Given the description of an element on the screen output the (x, y) to click on. 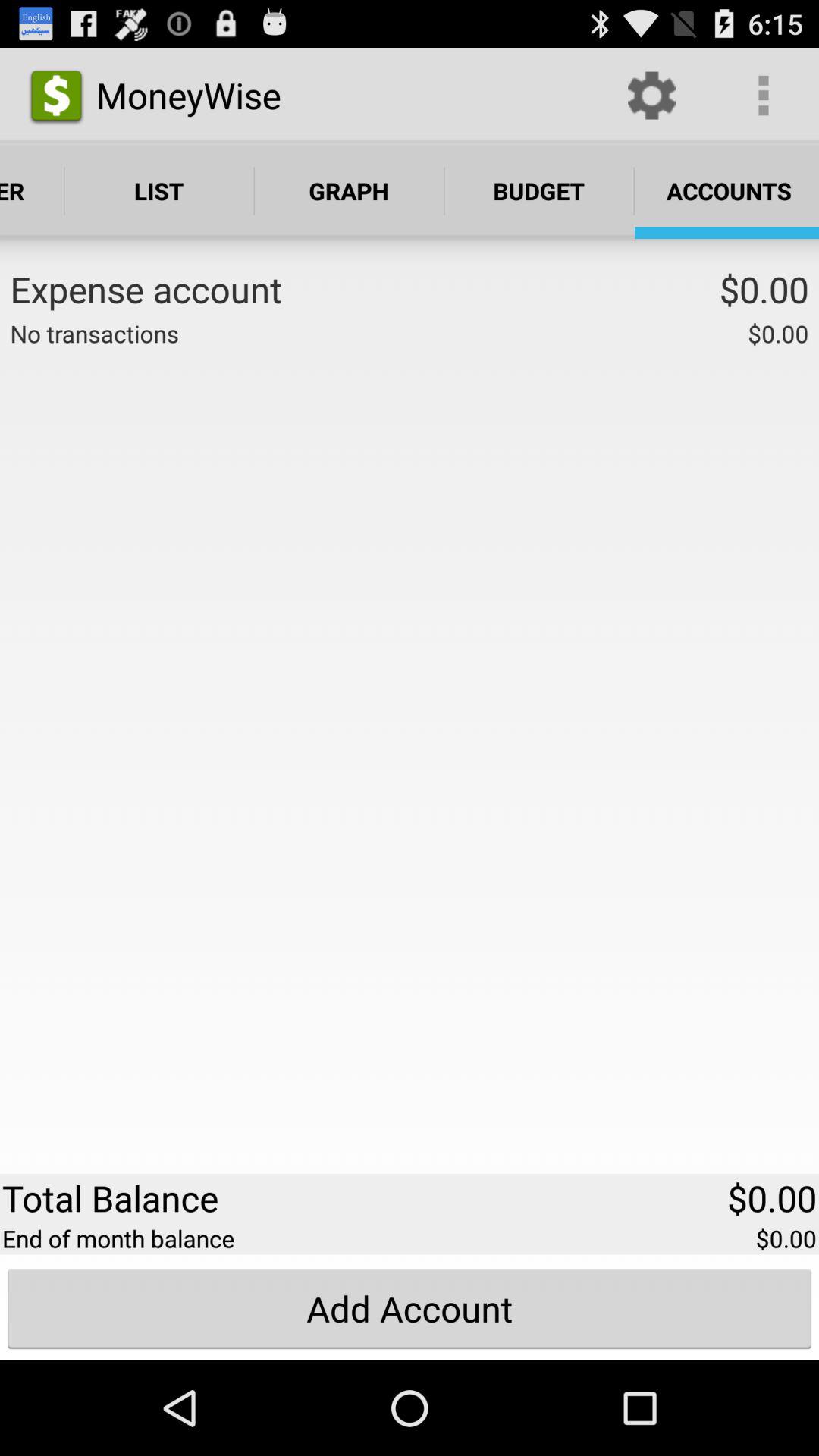
turn on the add account button (409, 1308)
